Given the description of an element on the screen output the (x, y) to click on. 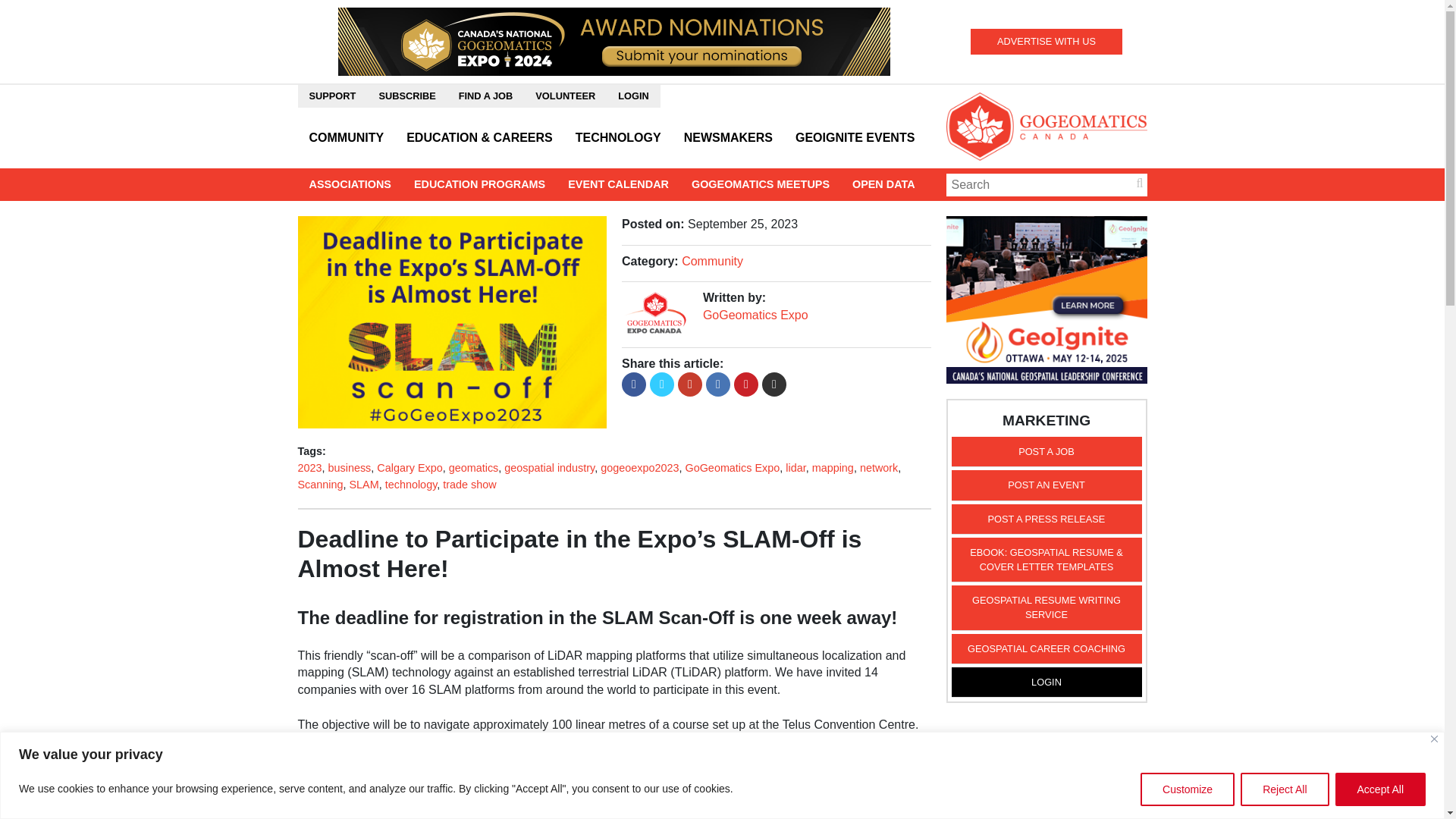
Accept All (1380, 788)
ASSOCIATIONS (349, 184)
Reject All (1283, 788)
EDUCATION PROGRAMS (479, 184)
VOLUNTEER (565, 96)
SUPPORT (331, 96)
ADVERTISE WITH US (1046, 41)
FIND A JOB (485, 96)
GoGeomatics (1046, 126)
Leaderboard Expo Award Nominations (613, 40)
SUBSCRIBE (406, 96)
GEOIGNITE EVENTS (855, 137)
COMMUNITY (345, 137)
GeoIgnite 2025 BigBox (1046, 298)
NEWSMAKERS (728, 137)
